Given the description of an element on the screen output the (x, y) to click on. 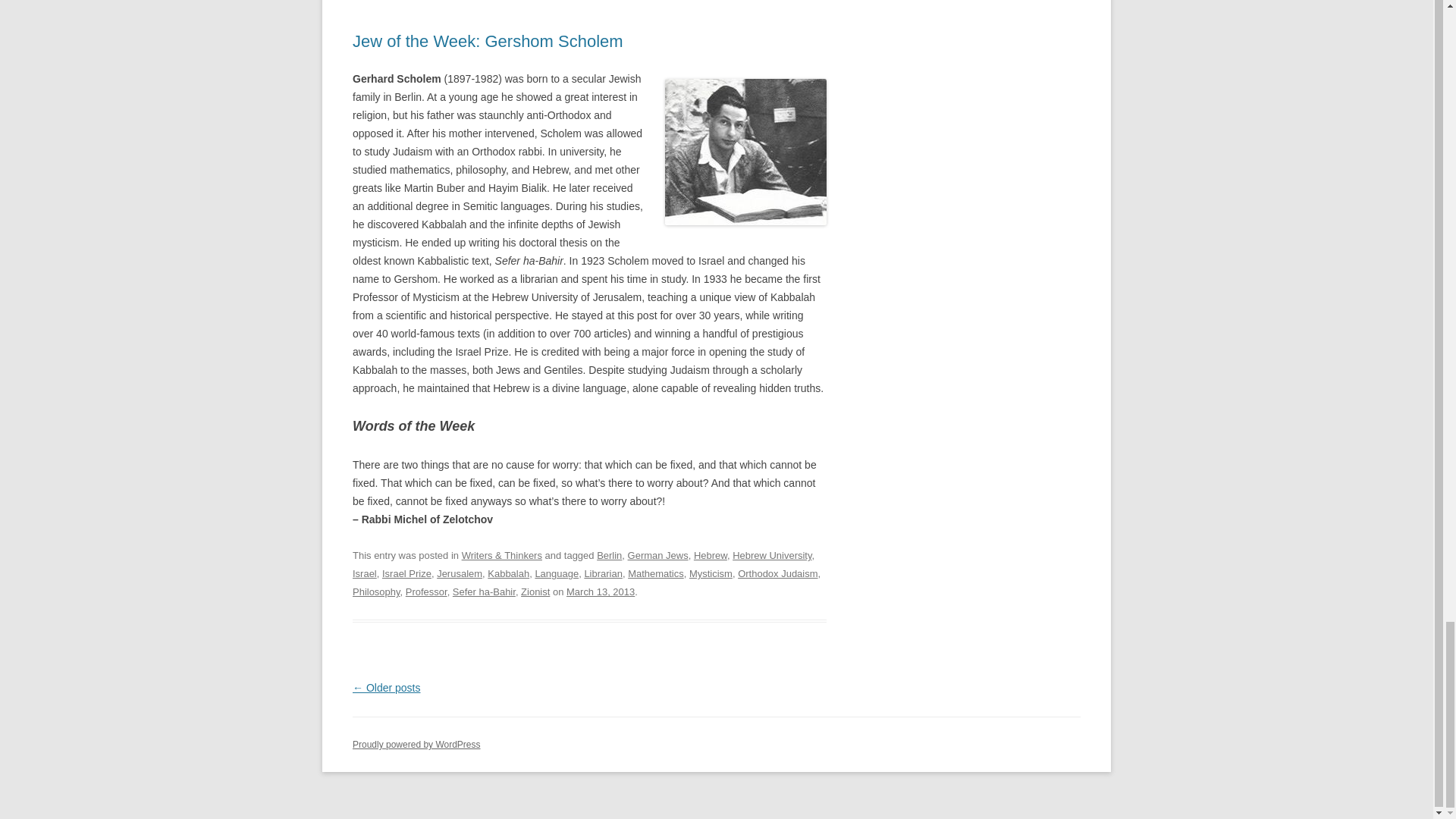
Semantic Personal Publishing Platform (416, 744)
2:05 pm (600, 591)
